Given the description of an element on the screen output the (x, y) to click on. 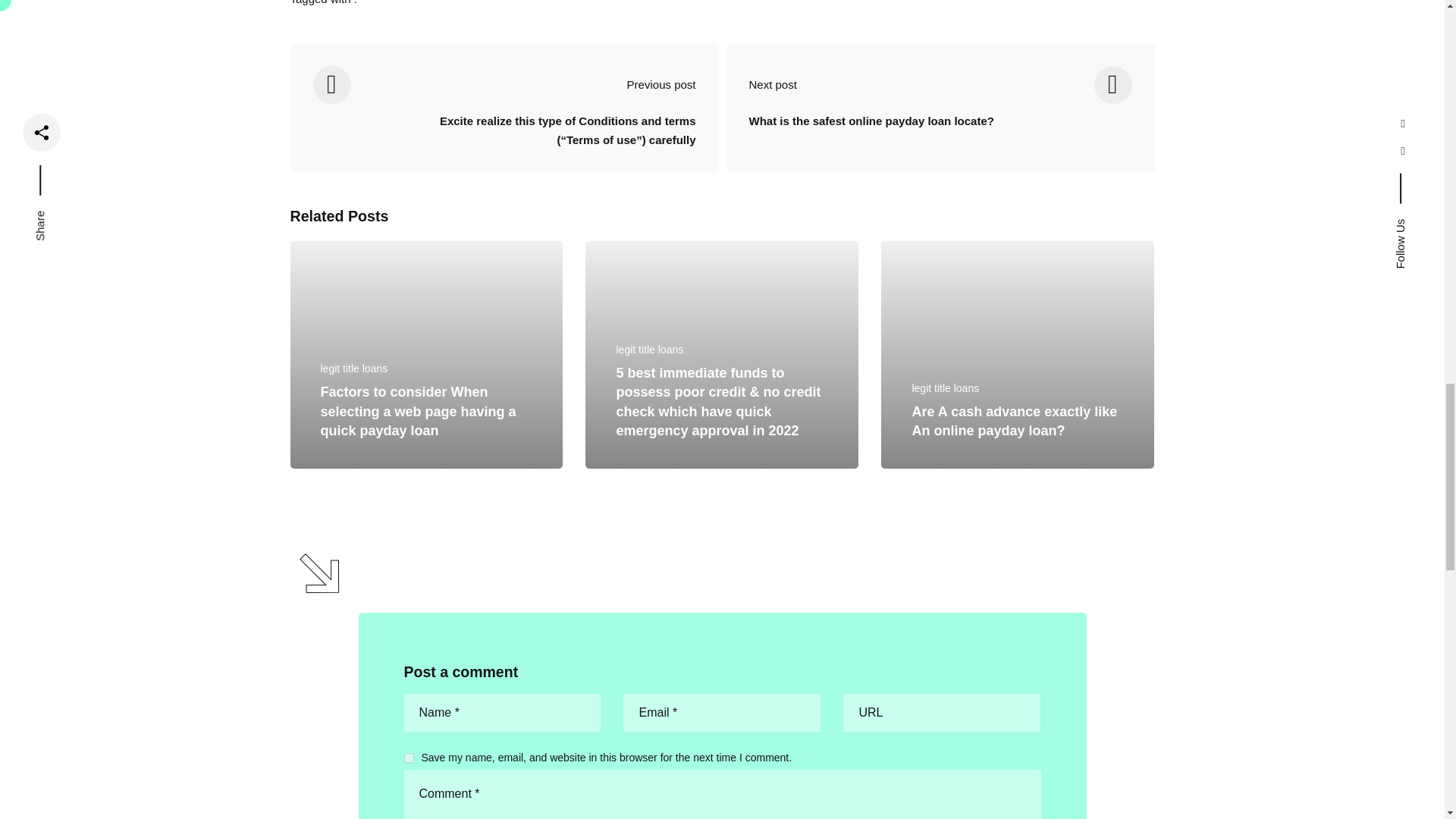
legit title loans (648, 349)
View posts from category (353, 368)
View posts from category (648, 349)
Are A cash advance exactly like An online payday loan? (1013, 421)
legit title loans (944, 387)
View posts from category (944, 387)
What is the safest online payday loan locate? (871, 132)
legit title loans (353, 368)
